Given the description of an element on the screen output the (x, y) to click on. 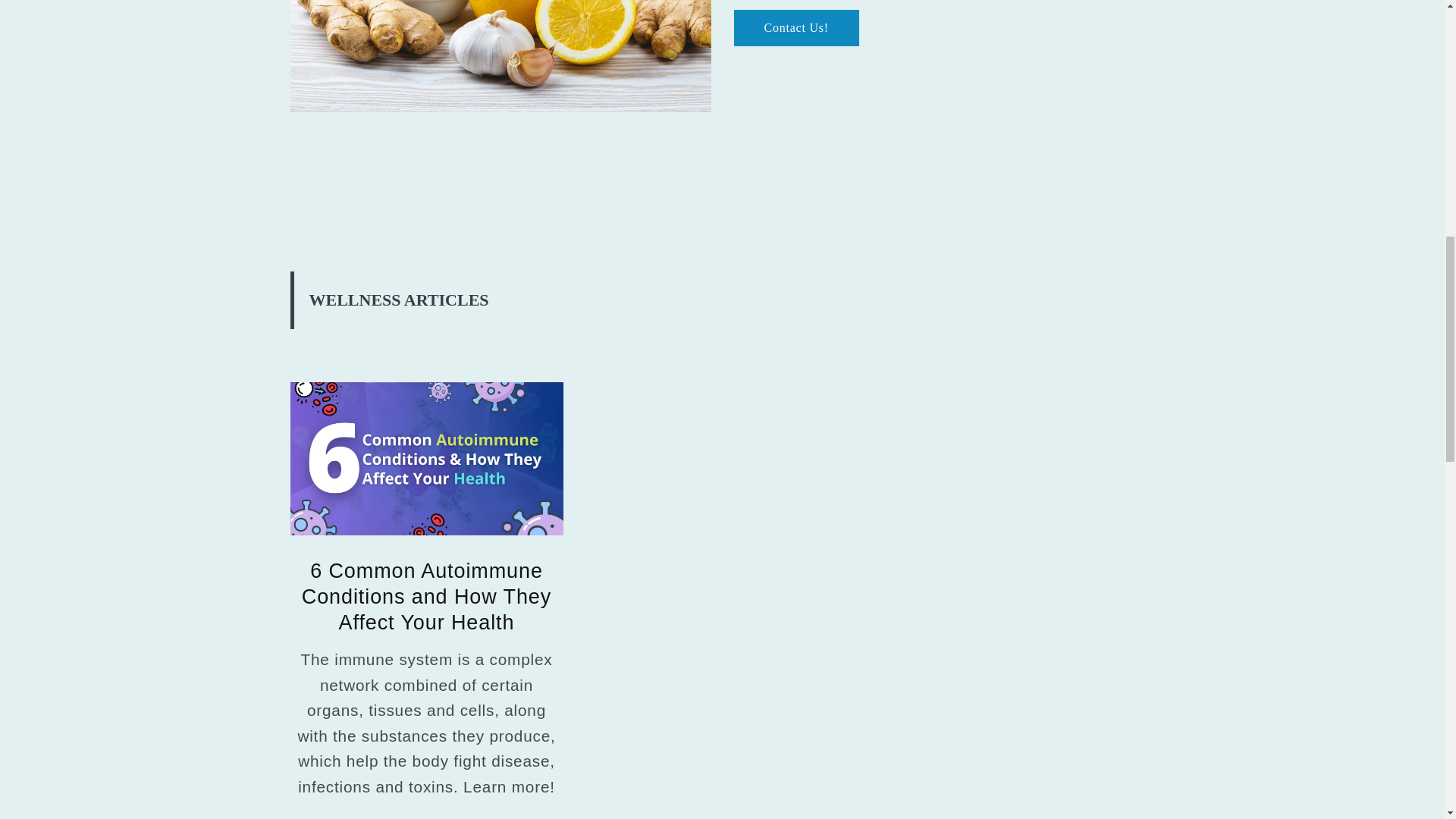
Contact Us! (796, 27)
